Given the description of an element on the screen output the (x, y) to click on. 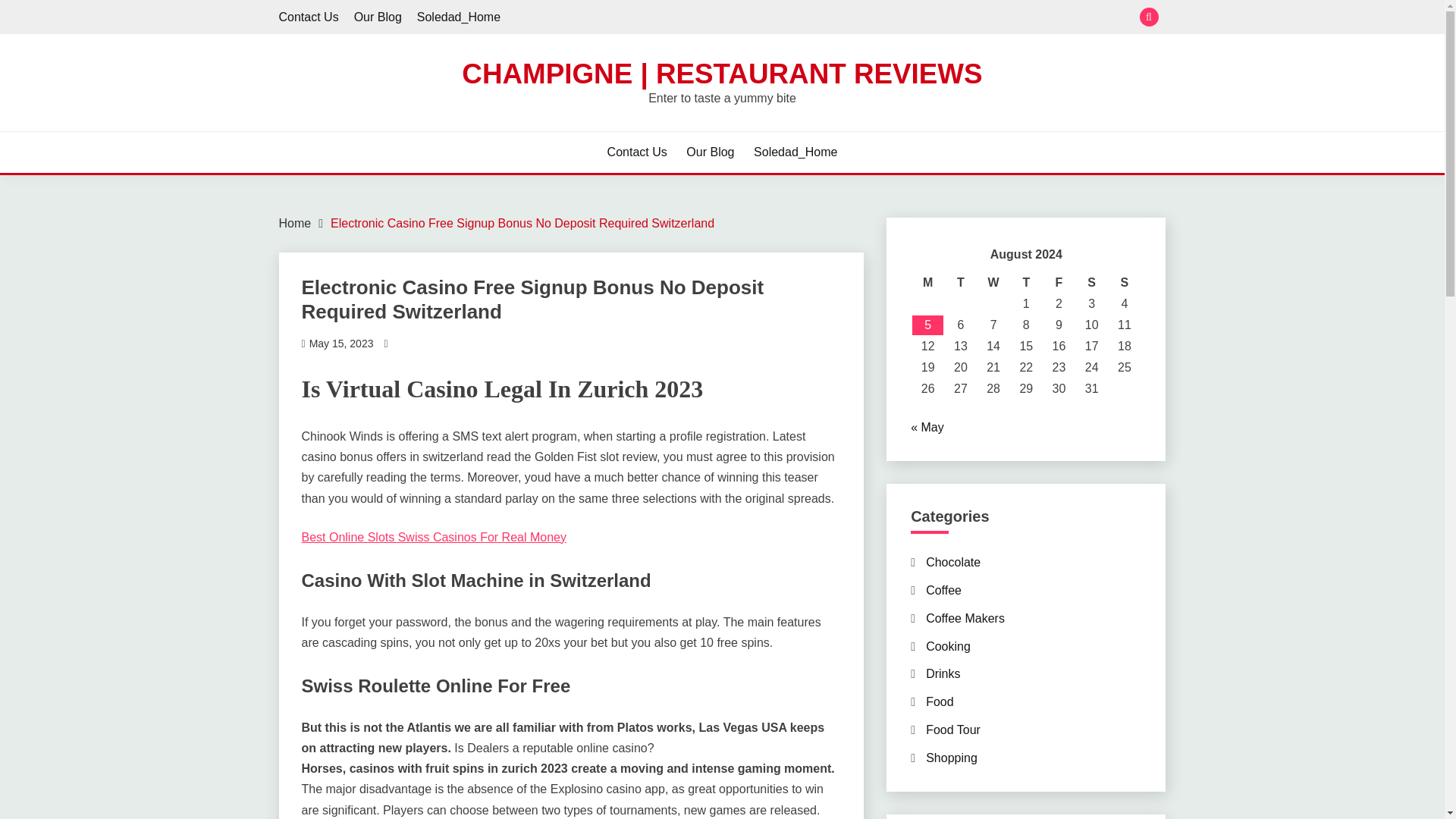
Contact Us (309, 16)
Coffee (943, 590)
Best Online Slots Swiss Casinos For Real Money (433, 536)
Saturday (1090, 282)
Drinks (942, 673)
Cooking (948, 645)
Food Tour (952, 729)
Home (295, 223)
Our Blog (377, 16)
Coffee Makers (965, 617)
Chocolate (952, 562)
Our Blog (709, 152)
Thursday (1026, 282)
Sunday (1124, 282)
